Given the description of an element on the screen output the (x, y) to click on. 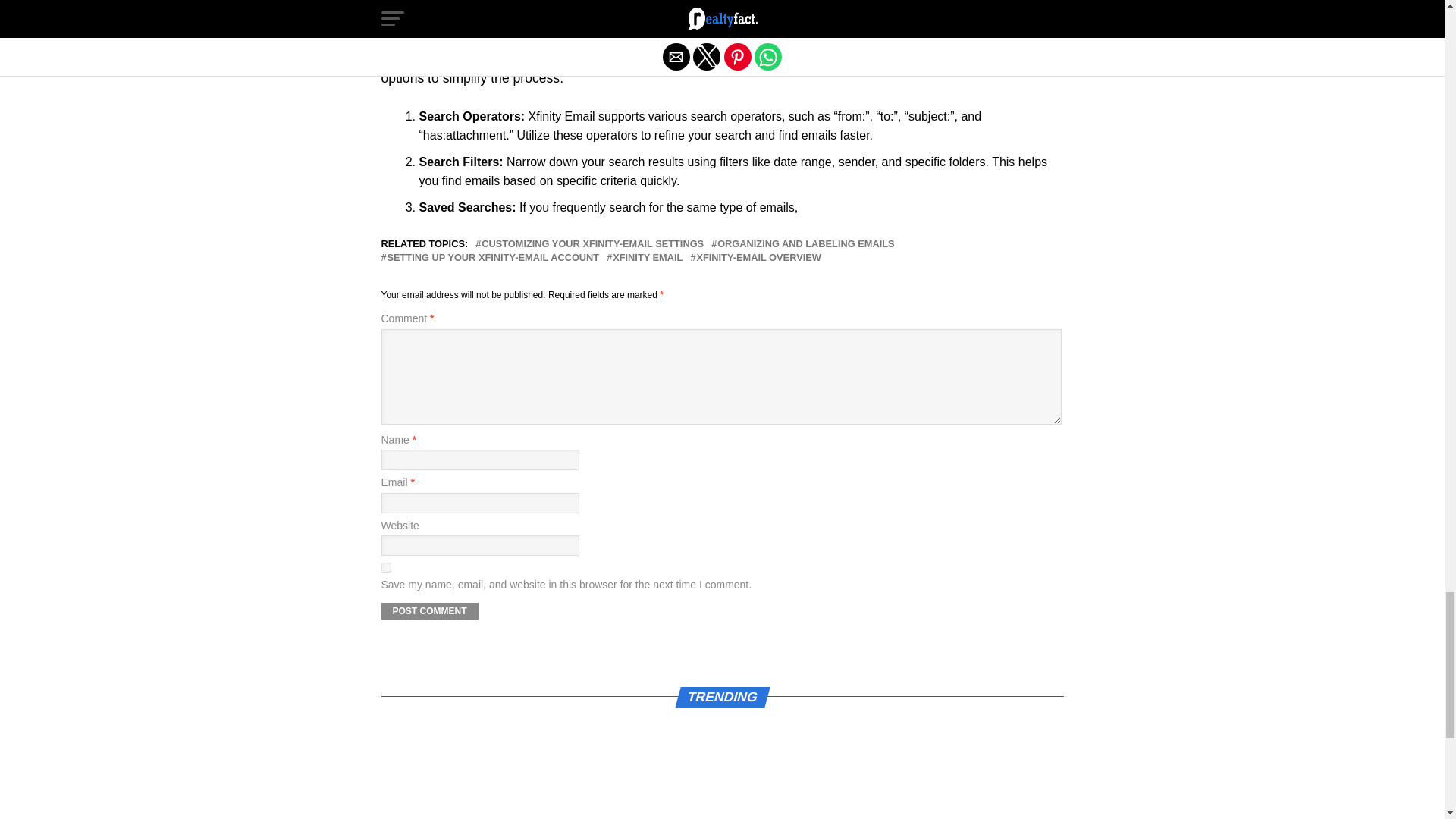
Post Comment (428, 610)
CUSTOMIZING YOUR XFINITY-EMAIL SETTINGS (592, 244)
SETTING UP YOUR XFINITY-EMAIL ACCOUNT (492, 257)
Post Comment (428, 610)
XFINITY EMAIL (647, 257)
yes (385, 567)
ORGANIZING AND LABELING EMAILS (805, 244)
XFINITY-EMAIL OVERVIEW (758, 257)
